Given the description of an element on the screen output the (x, y) to click on. 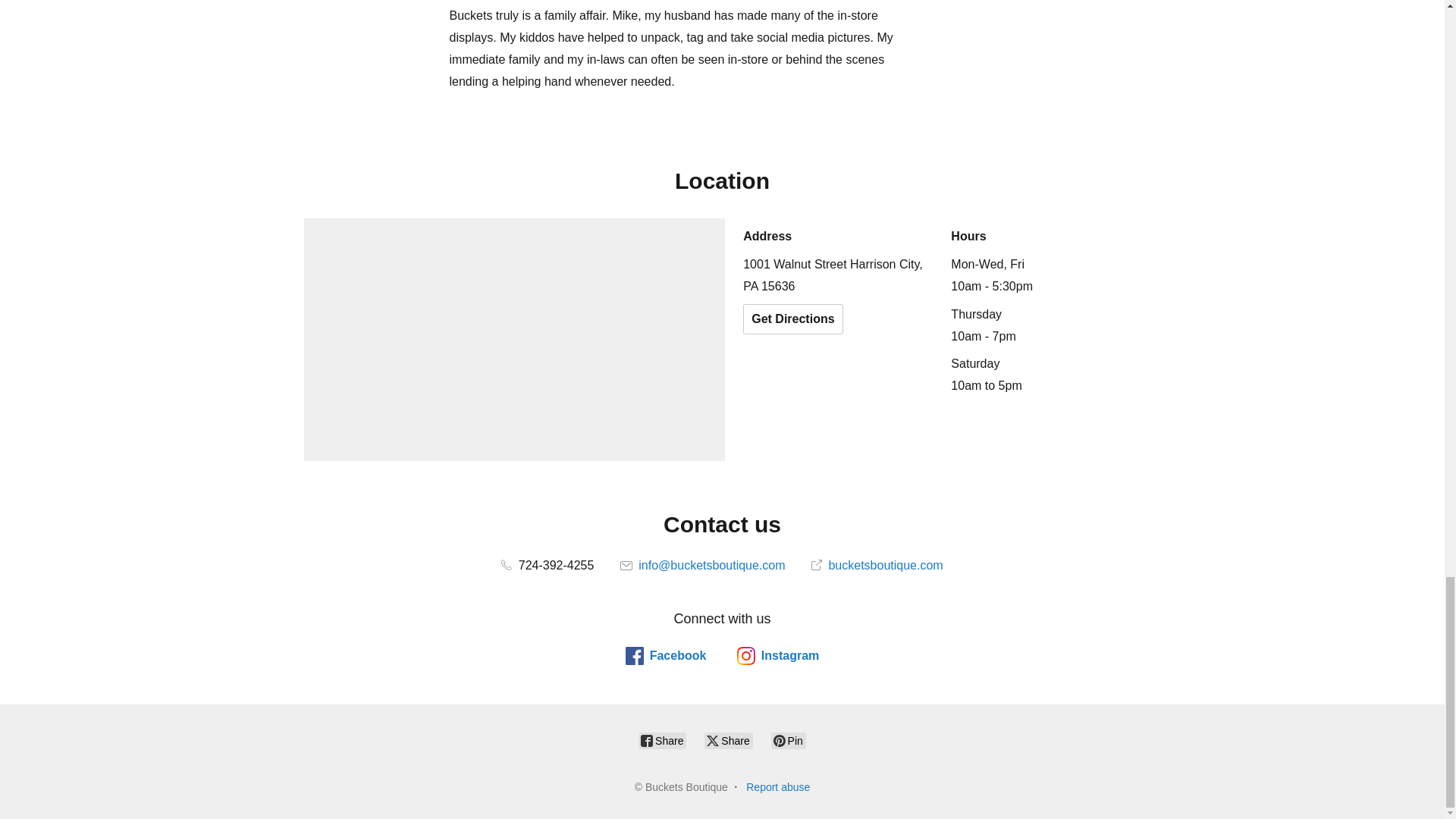
Location on map (513, 339)
